Given the description of an element on the screen output the (x, y) to click on. 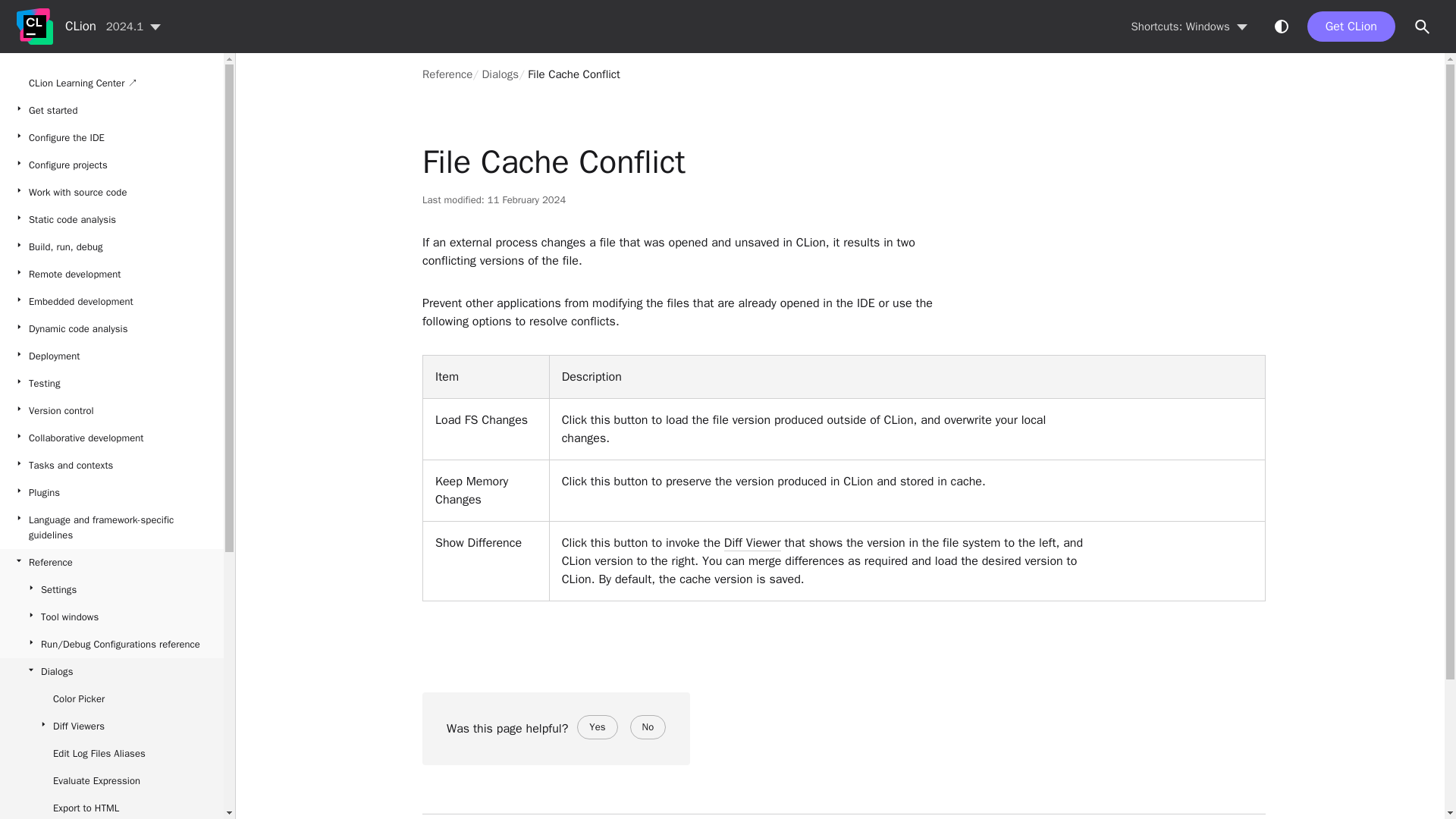
CLion Learning Center (112, 83)
Static code analysis (112, 219)
Work with source code (112, 192)
Search (1422, 26)
Version control (112, 411)
No (648, 726)
Dynamic code analysis (112, 329)
File Cache Conflict (573, 74)
